Given the description of an element on the screen output the (x, y) to click on. 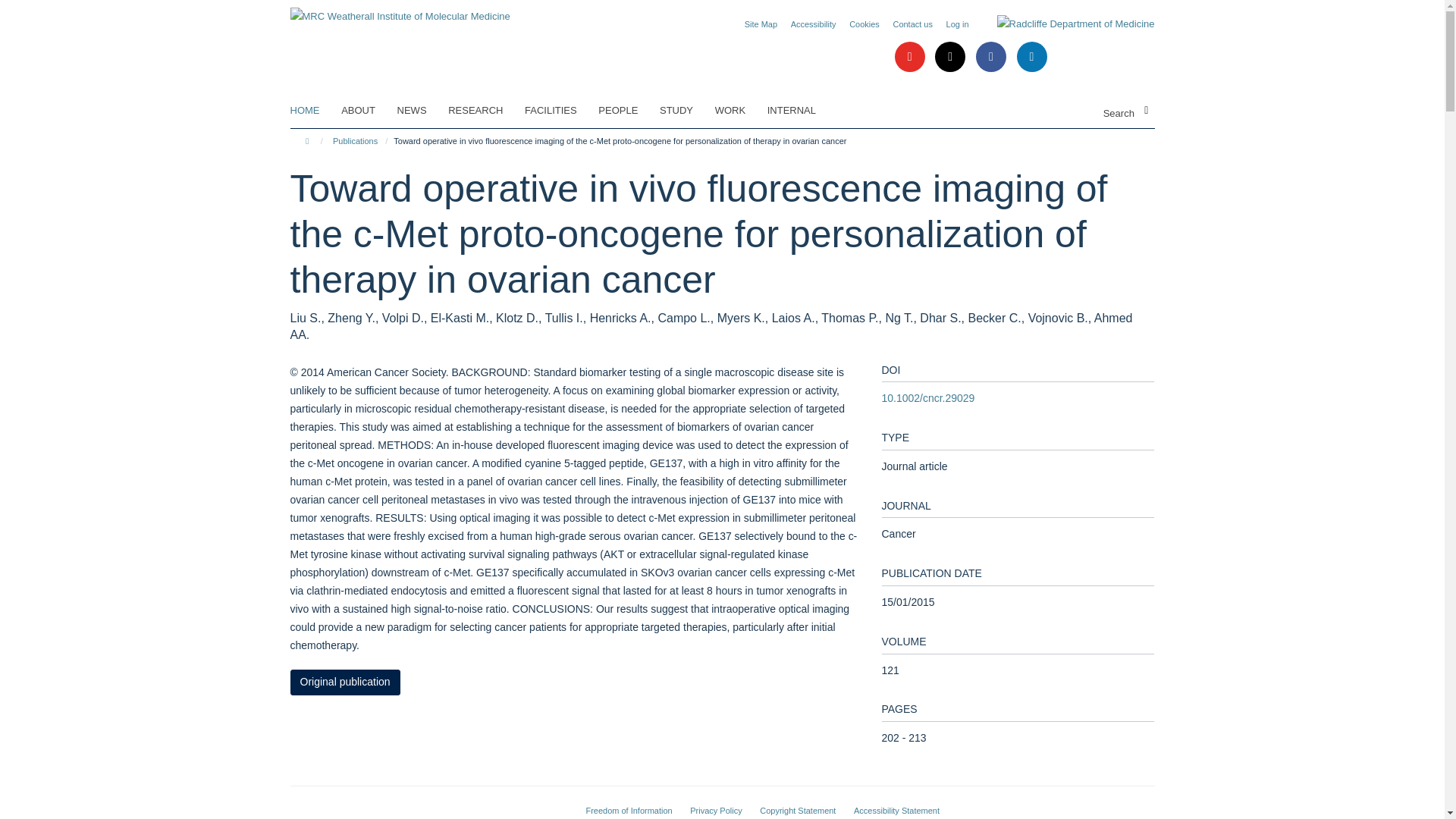
HOME (313, 110)
Accessibility (812, 23)
MRC Weatherall Institute of Molecular Medicine (399, 11)
FACILITIES (559, 110)
Cookies (863, 23)
Contact us (912, 23)
Follow us on Linkedin (1031, 57)
RESEARCH (484, 110)
Follow us on Twitter (951, 57)
Site Map (760, 23)
